Given the description of an element on the screen output the (x, y) to click on. 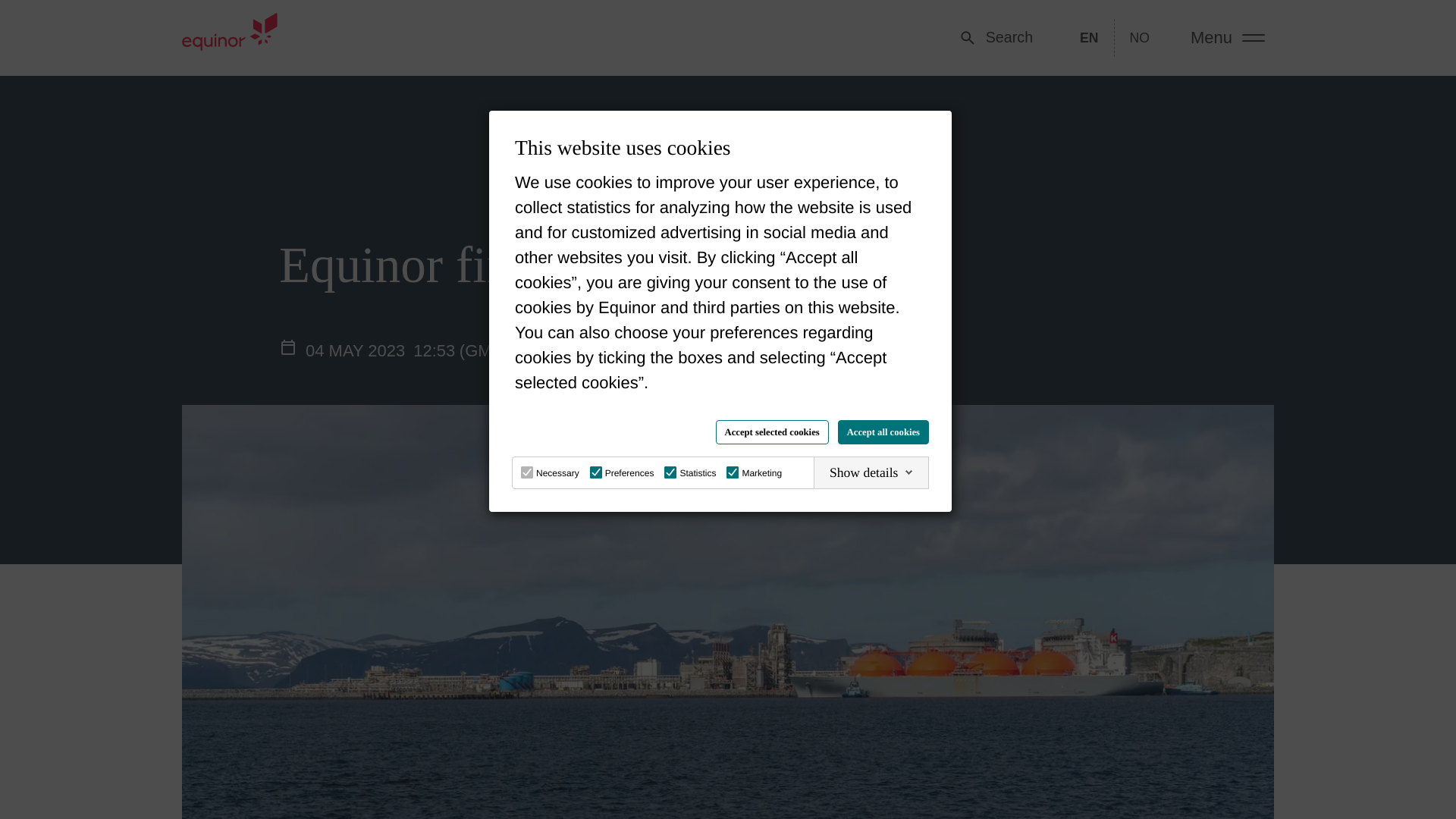
Accept all cookies (883, 432)
Show details (871, 472)
Accept selected cookies (772, 432)
